Given the description of an element on the screen output the (x, y) to click on. 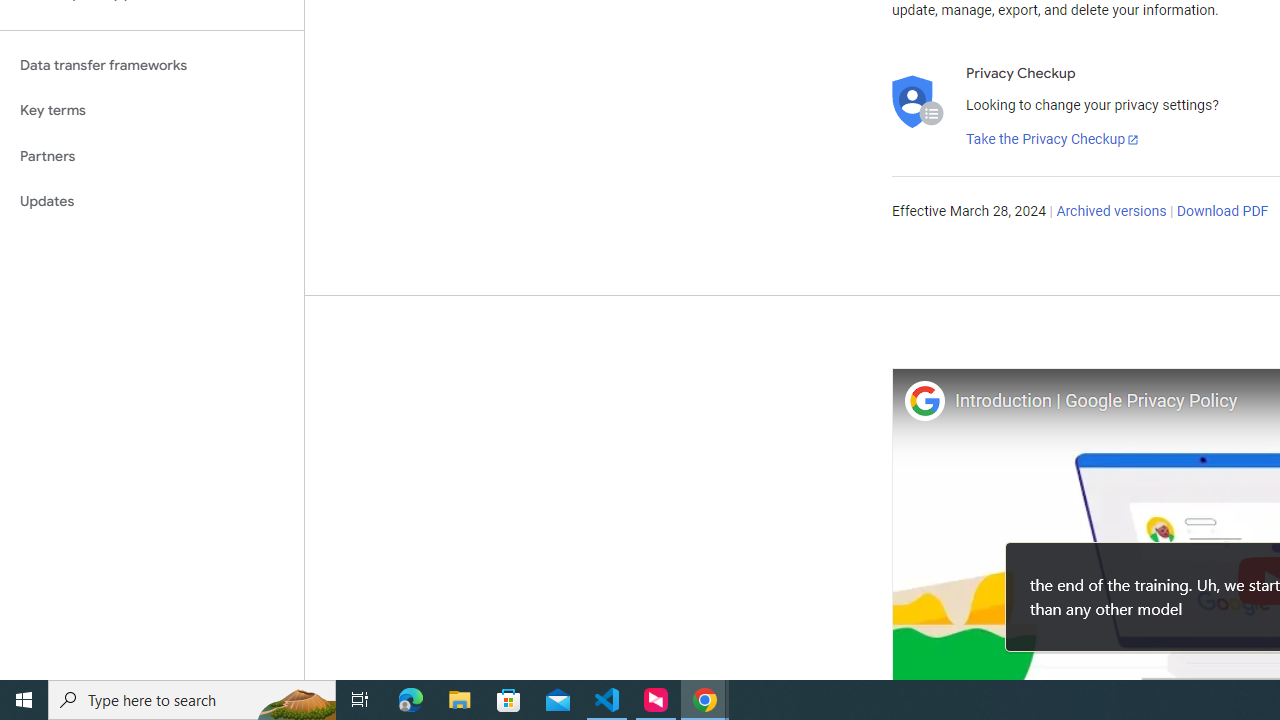
Updates (152, 201)
Key terms (152, 110)
Photo image of Google (924, 400)
Archived versions (1111, 212)
Partners (152, 156)
Data transfer frameworks (152, 65)
Take the Privacy Checkup (1053, 140)
Download PDF (1222, 212)
